Given the description of an element on the screen output the (x, y) to click on. 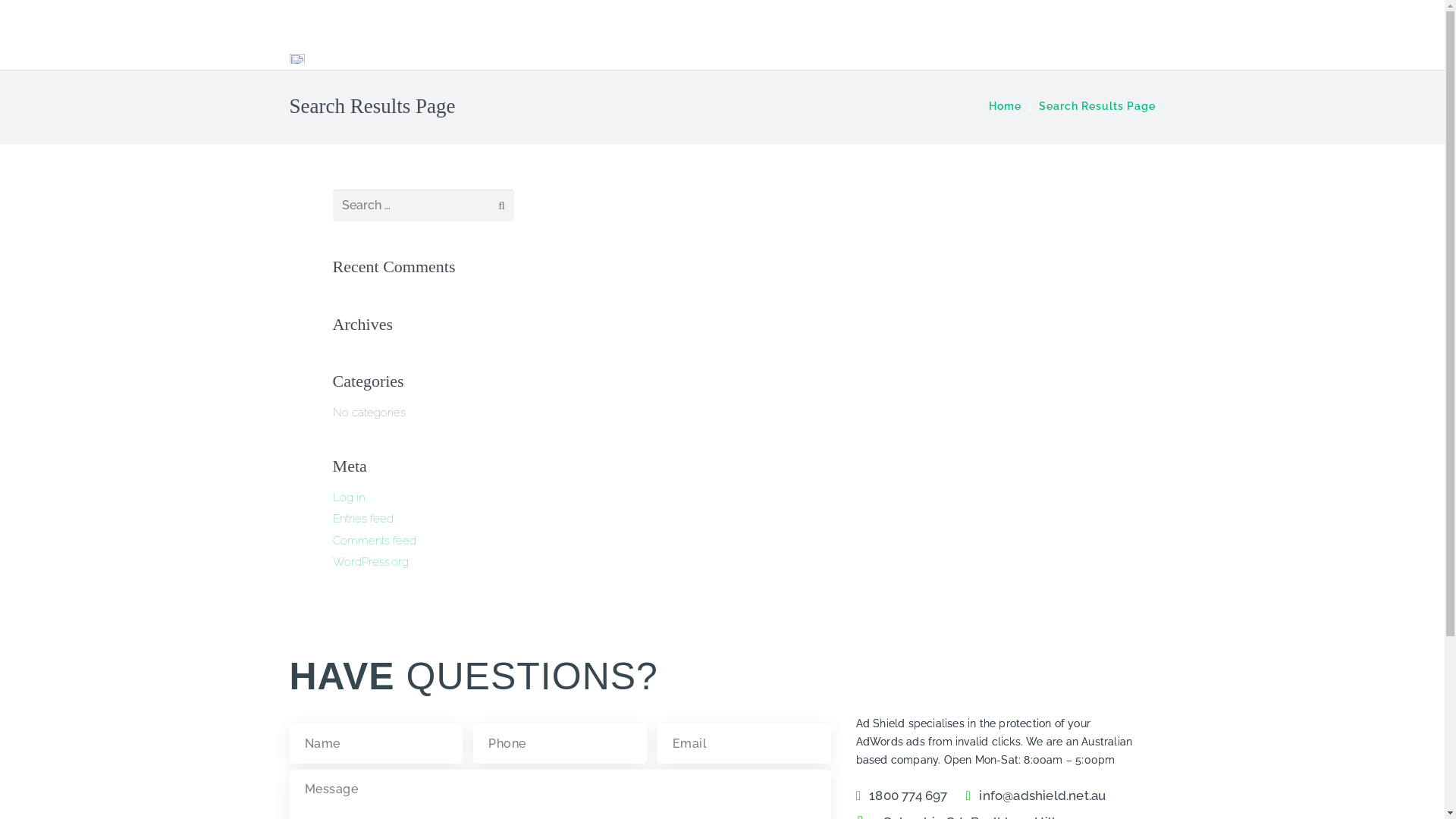
Get Started Element type: text (962, 50)
Contact Element type: text (863, 50)
Comments feed Element type: text (374, 540)
Search Results Page Element type: text (1096, 106)
Entries feed Element type: text (362, 518)
Faq Element type: text (792, 50)
1800 774 697 Element type: text (906, 795)
How It Works Element type: text (702, 50)
Log in Element type: text (348, 497)
WordPress.org Element type: text (370, 561)
info@adshield.net.au Element type: text (1040, 795)
Search Element type: text (492, 205)
Home Element type: text (1004, 106)
